Given the description of an element on the screen output the (x, y) to click on. 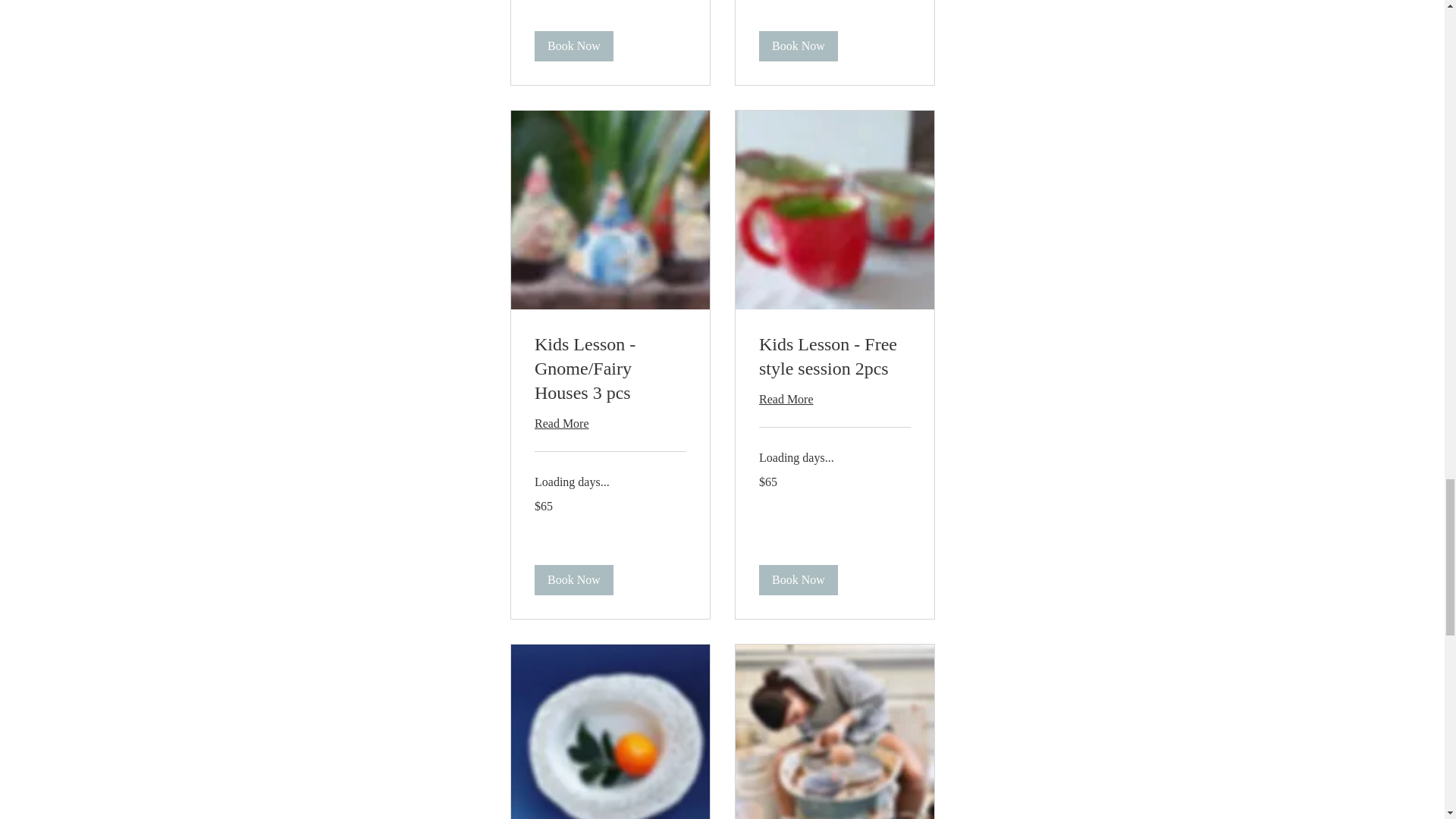
Read More (609, 423)
Book Now (797, 46)
Book Now (573, 46)
